Given the description of an element on the screen output the (x, y) to click on. 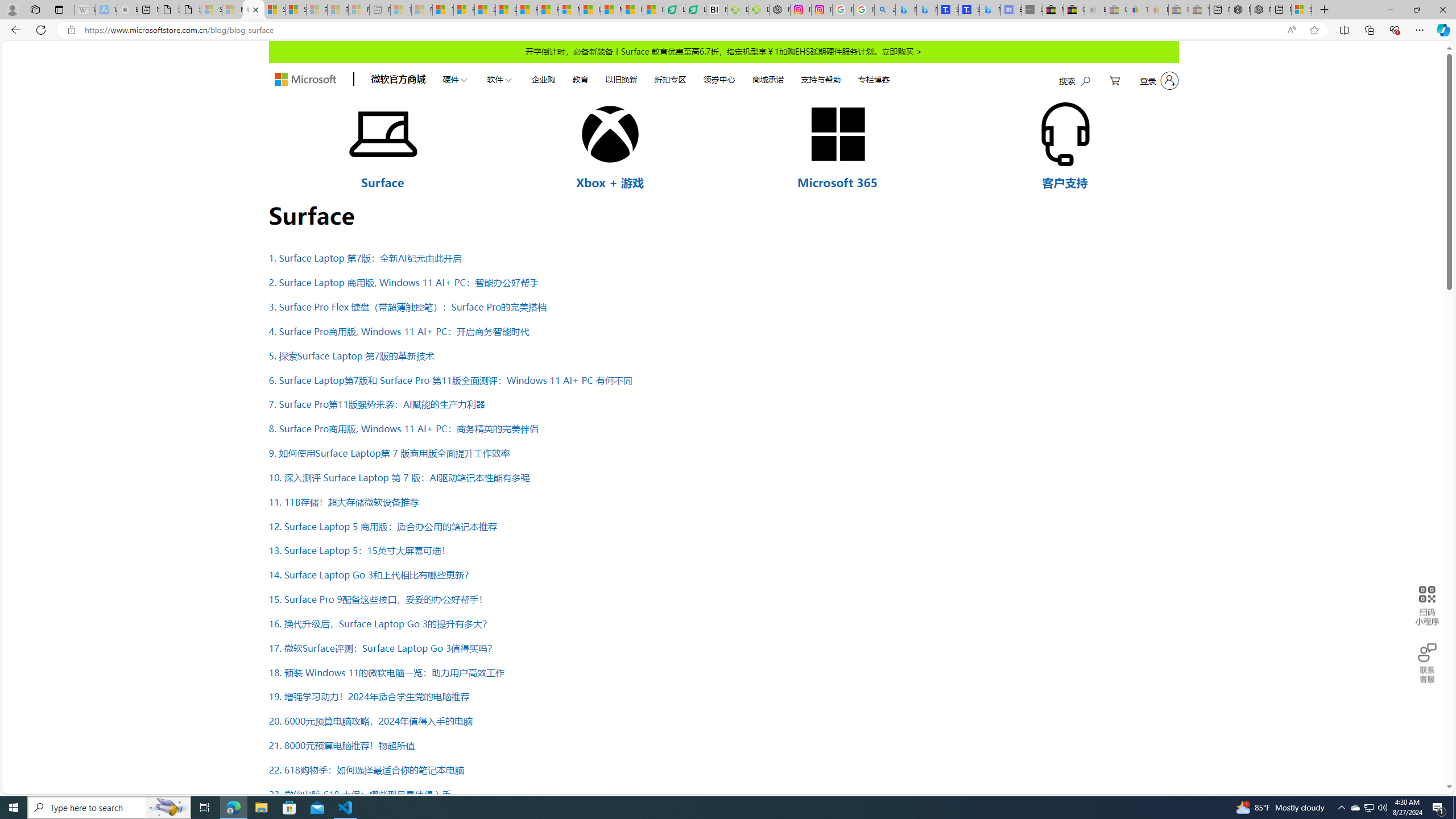
AutomationID: autoNav (665, 78)
Top Stories - MSN - Sleeping (400, 9)
Descarga Driver Updater (759, 9)
